Given the description of an element on the screen output the (x, y) to click on. 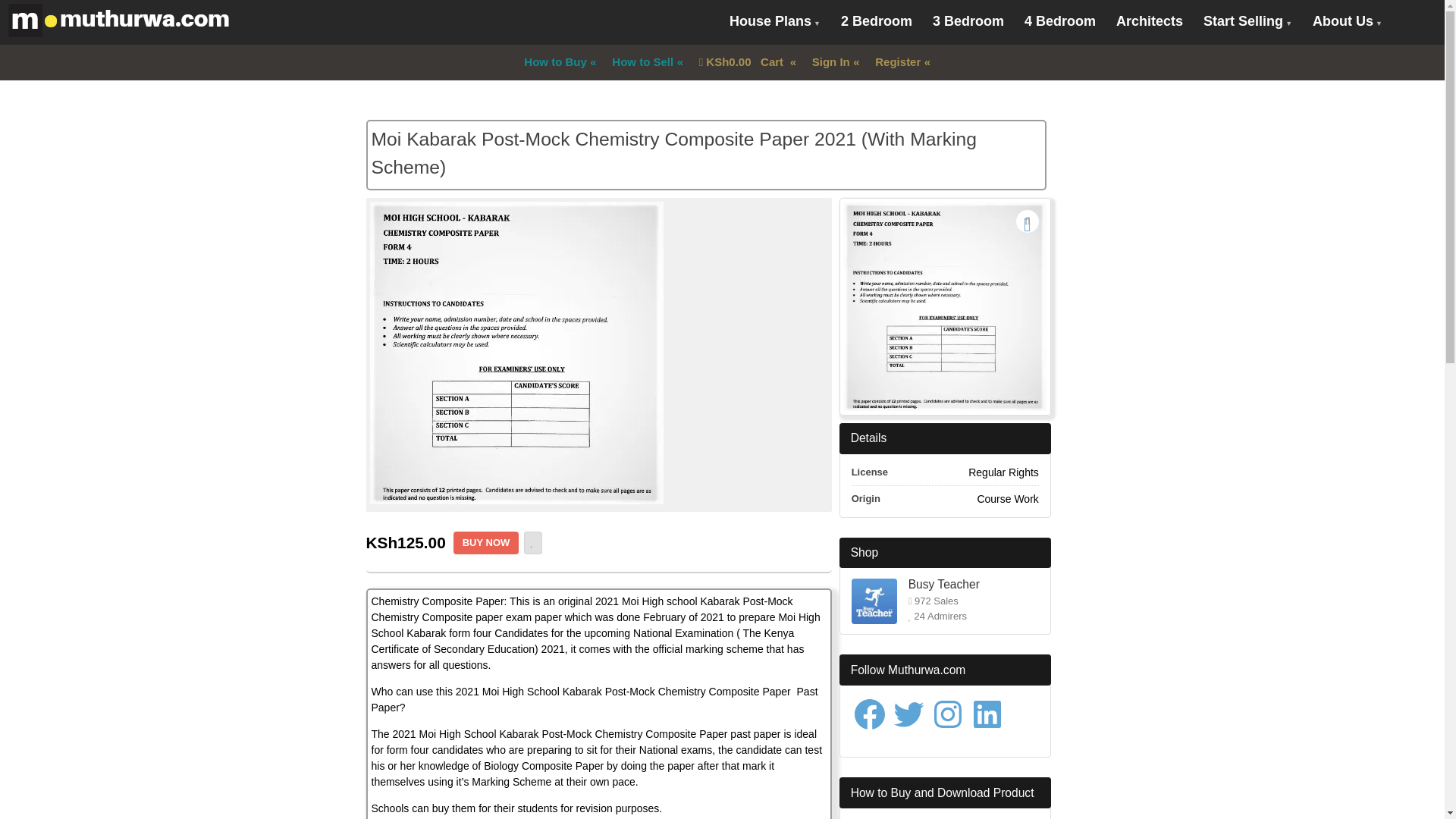
KSh0.00   Cart (742, 61)
BUY NOW (485, 542)
How to Buy (554, 61)
Register (897, 61)
2 Bedroom (876, 20)
Sign In (830, 61)
Architects (1149, 20)
Start Selling (1247, 22)
3 Bedroom (967, 20)
How to Sell (641, 61)
House Plans (774, 22)
About Us (1347, 22)
4 Bedroom (1059, 20)
